Given the description of an element on the screen output the (x, y) to click on. 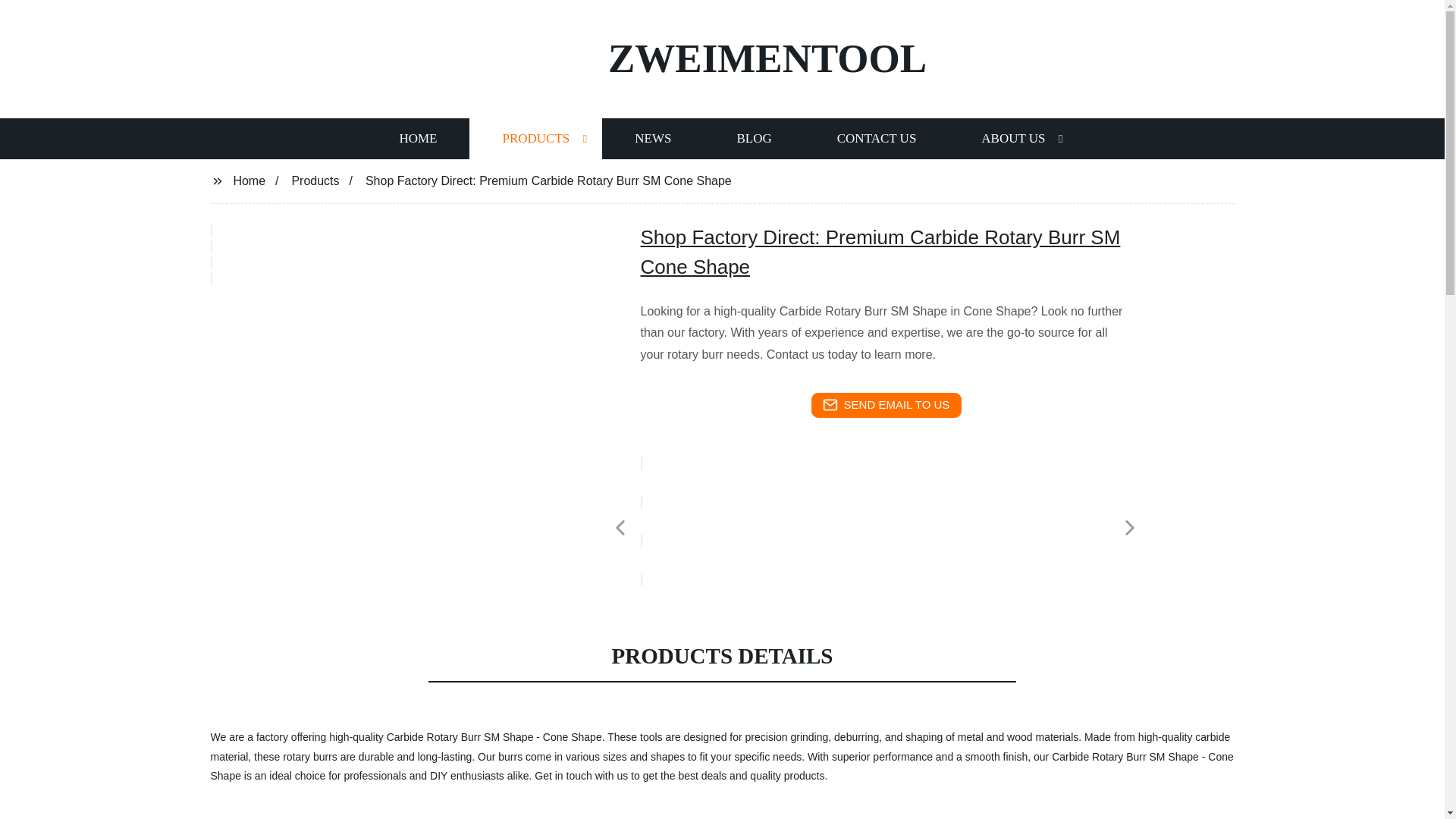
PRODUCTS (535, 137)
SEND EMAIL TO US (885, 405)
Home (248, 180)
HOME (417, 137)
Products (315, 180)
CONTACT US (877, 137)
ABOUT US (1013, 137)
NEWS (652, 137)
BLOG (753, 137)
